Given the description of an element on the screen output the (x, y) to click on. 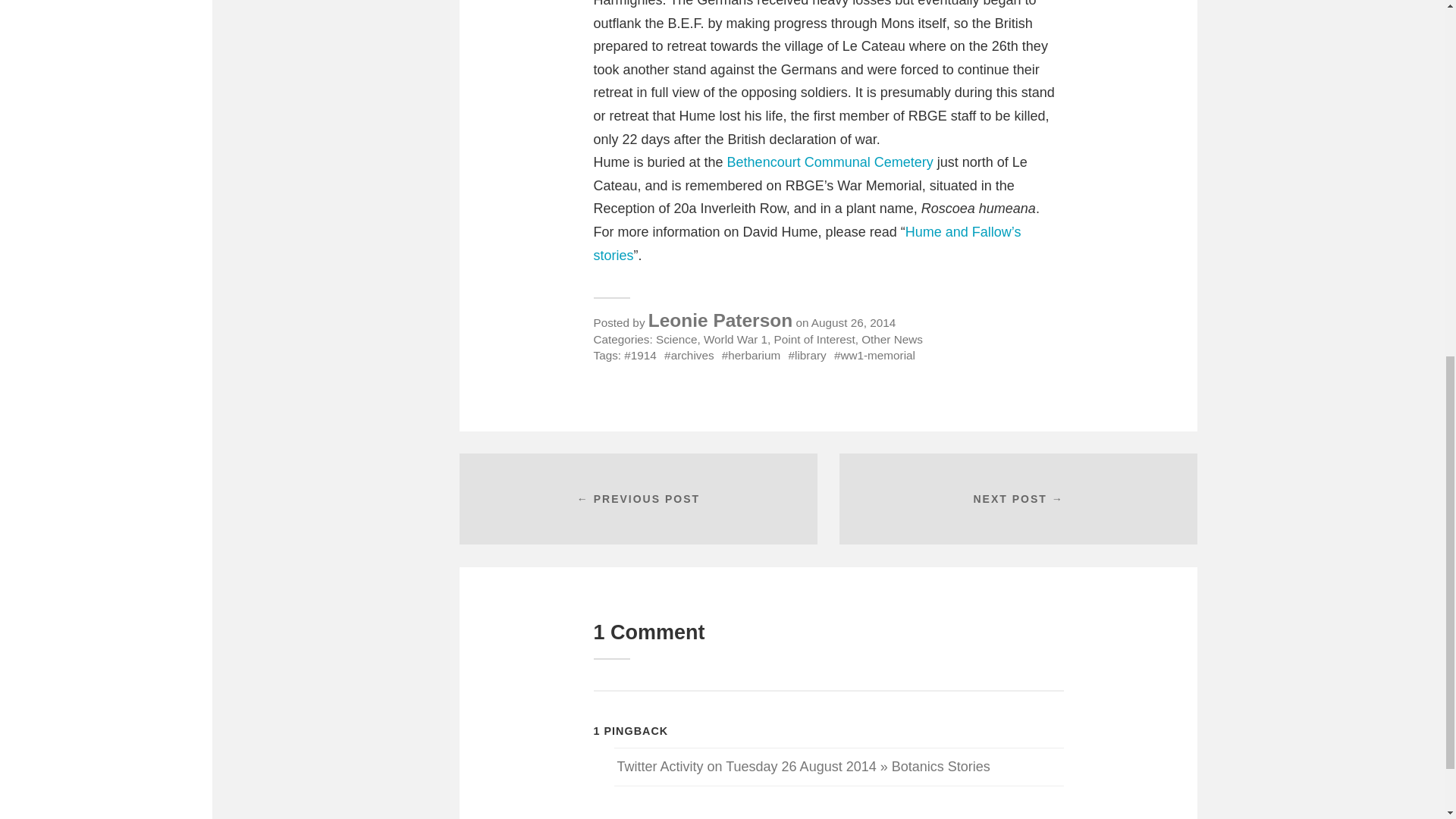
Science (676, 338)
Bethencourt Communal Cemetery (831, 161)
Hume and Fallow's stories (806, 243)
Previous post: In search of rust (638, 498)
Next post: Clintonia andrewsiana (1018, 498)
Leonie Paterson (719, 320)
World War 1 (735, 338)
Point of Interest (815, 338)
Bethencourt Communal Cemetery (831, 161)
Posts by Leonie Paterson (719, 320)
Other News (892, 338)
